Given the description of an element on the screen output the (x, y) to click on. 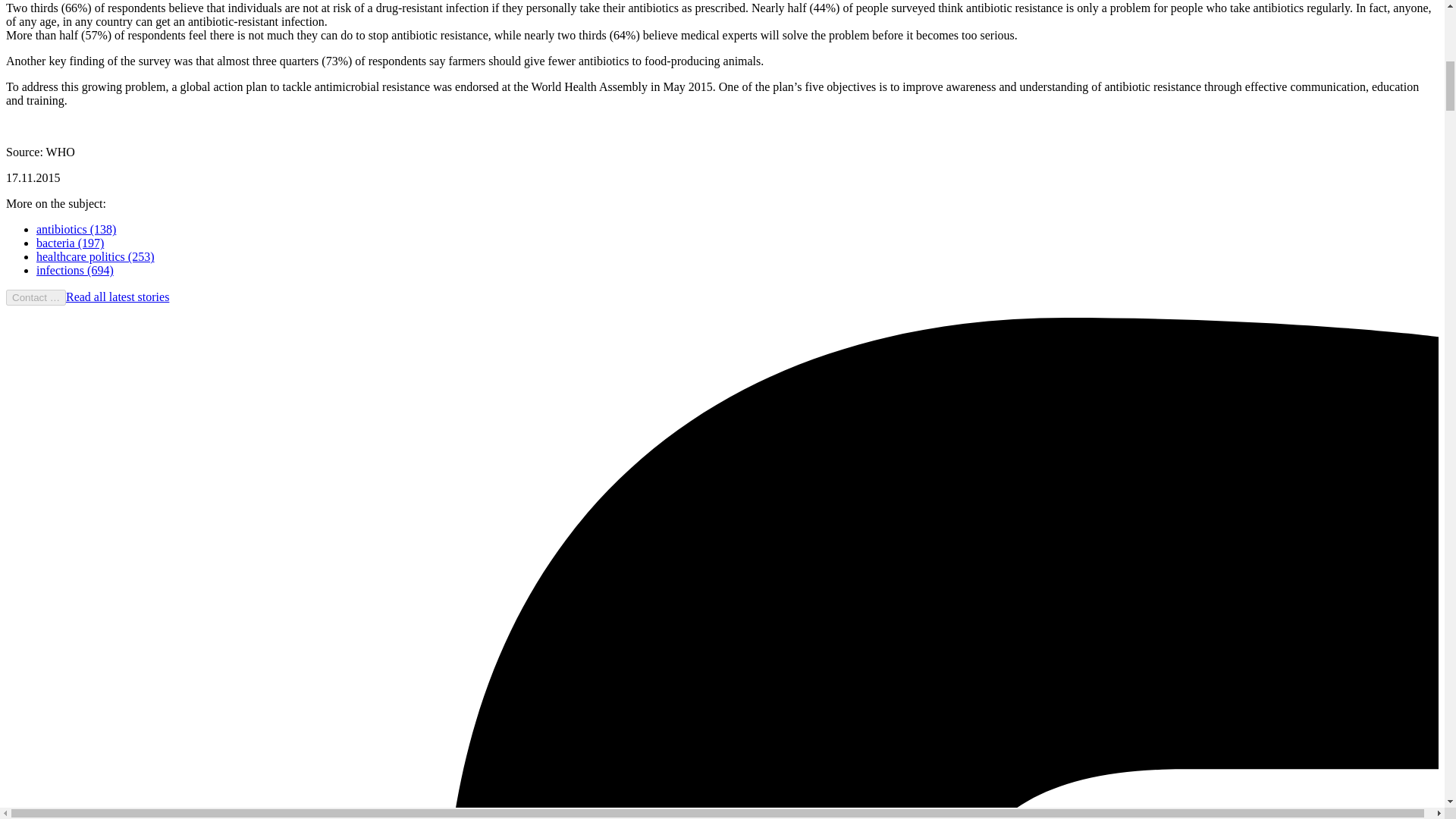
Read all latest stories (116, 296)
